Given the description of an element on the screen output the (x, y) to click on. 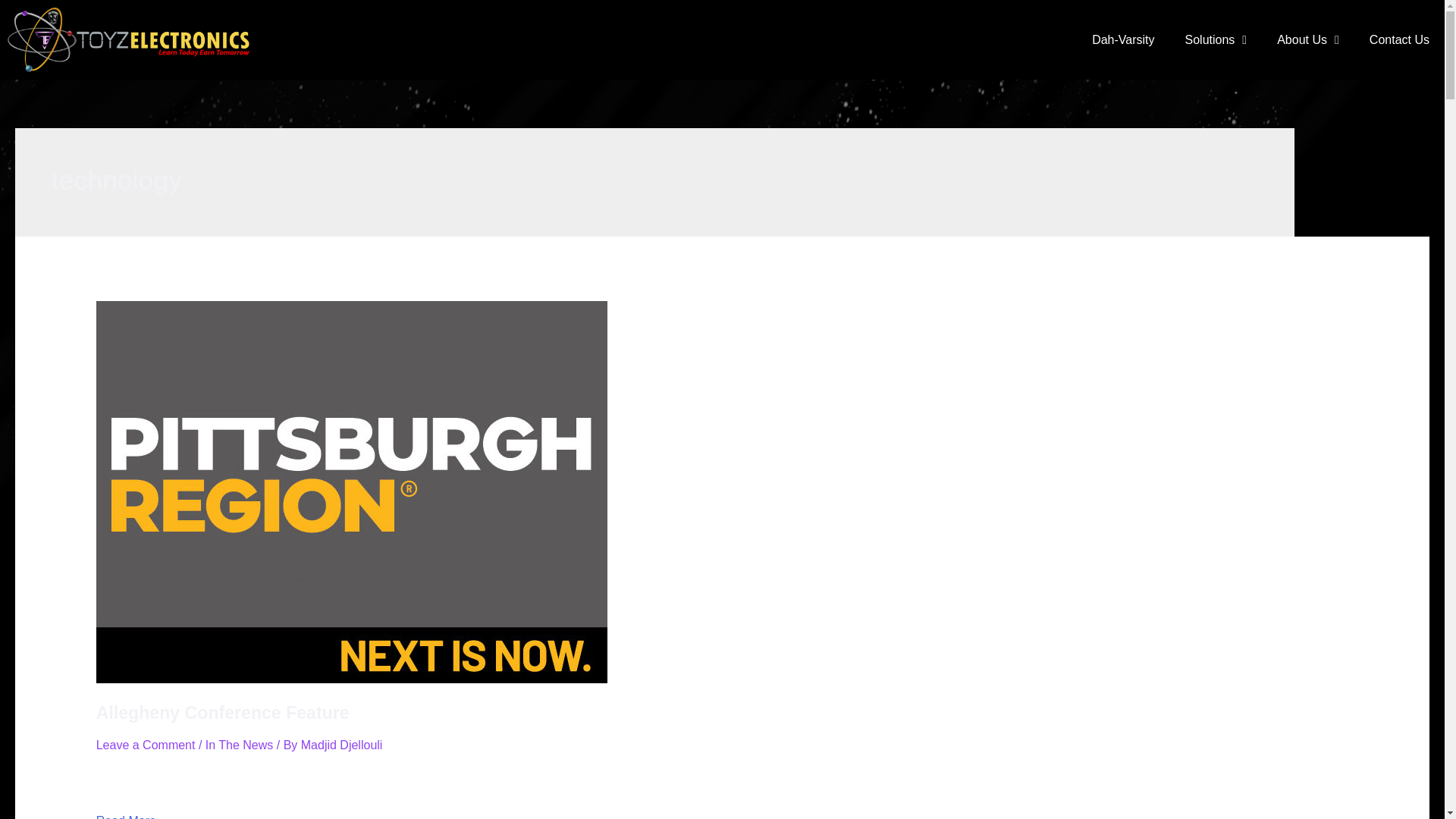
Leave a Comment (145, 744)
Allegheny Conference Feature (222, 712)
Madjid Djellouli (341, 744)
Solutions (1216, 39)
View all posts by Madjid Djellouli (341, 744)
In The News (239, 744)
Dah-Varsity (1123, 39)
About Us (1308, 39)
